Given the description of an element on the screen output the (x, y) to click on. 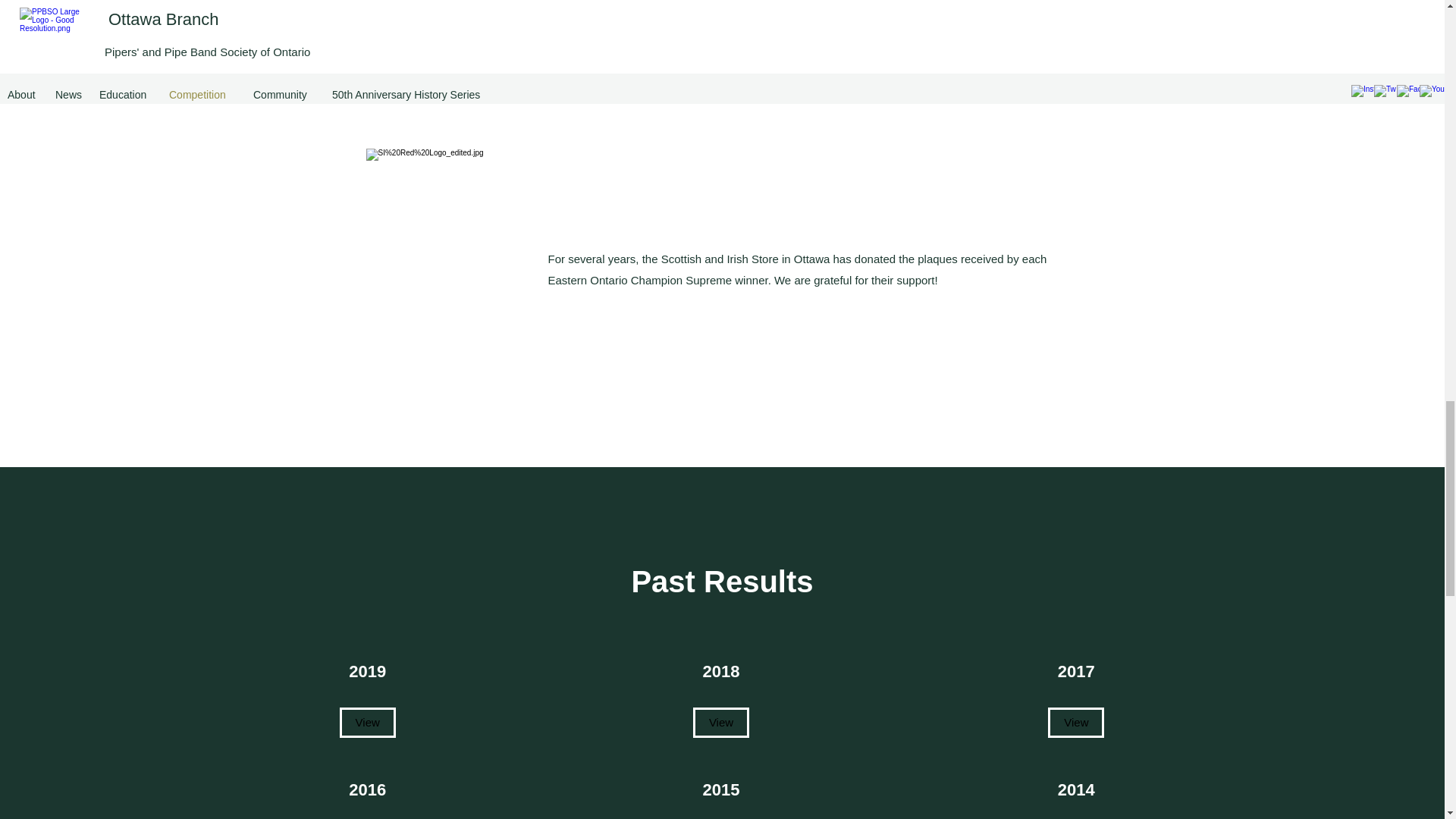
View (367, 722)
View (721, 722)
View (1075, 722)
